Given the description of an element on the screen output the (x, y) to click on. 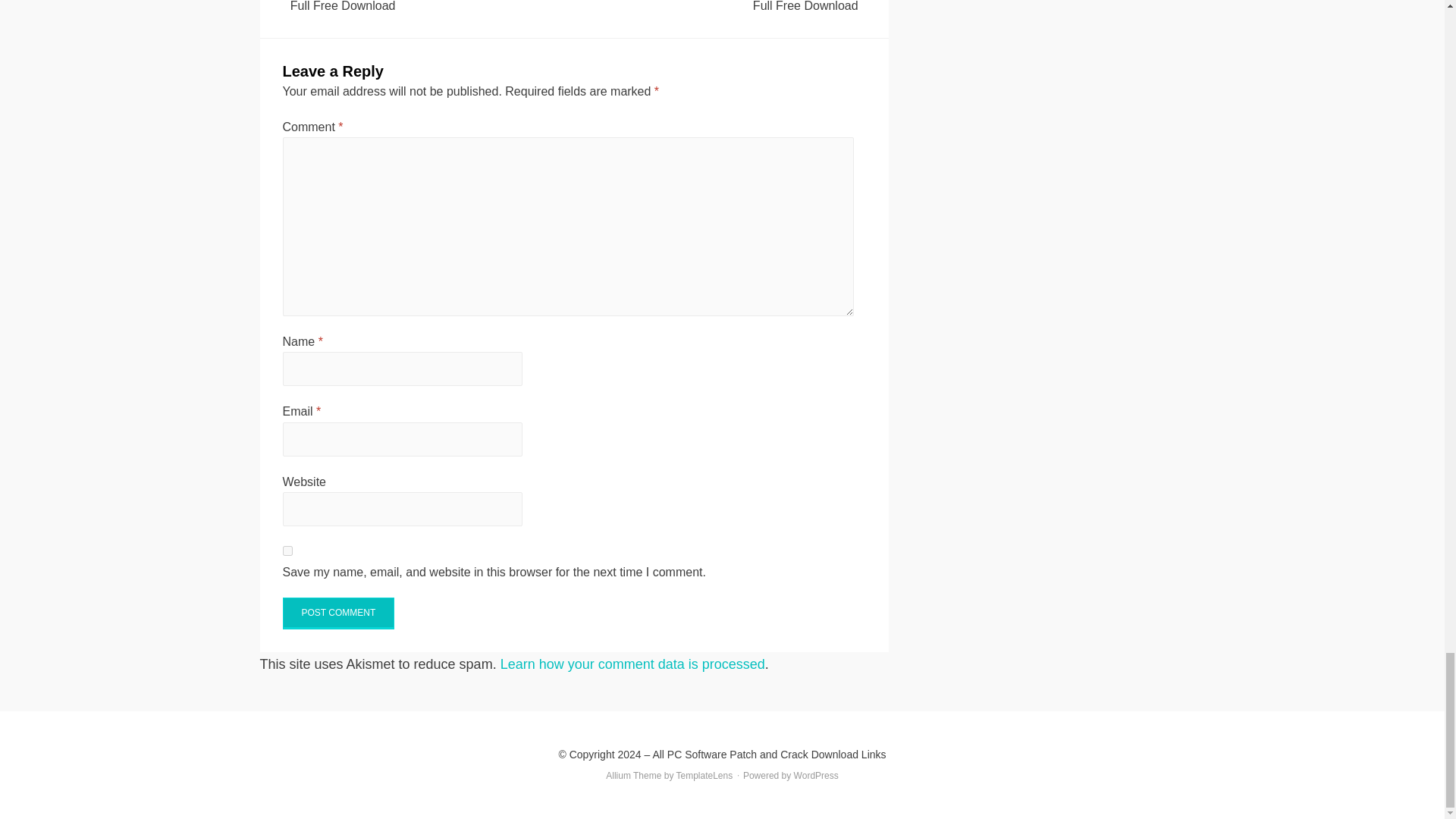
yes (287, 551)
Post Comment (338, 613)
